Given the description of an element on the screen output the (x, y) to click on. 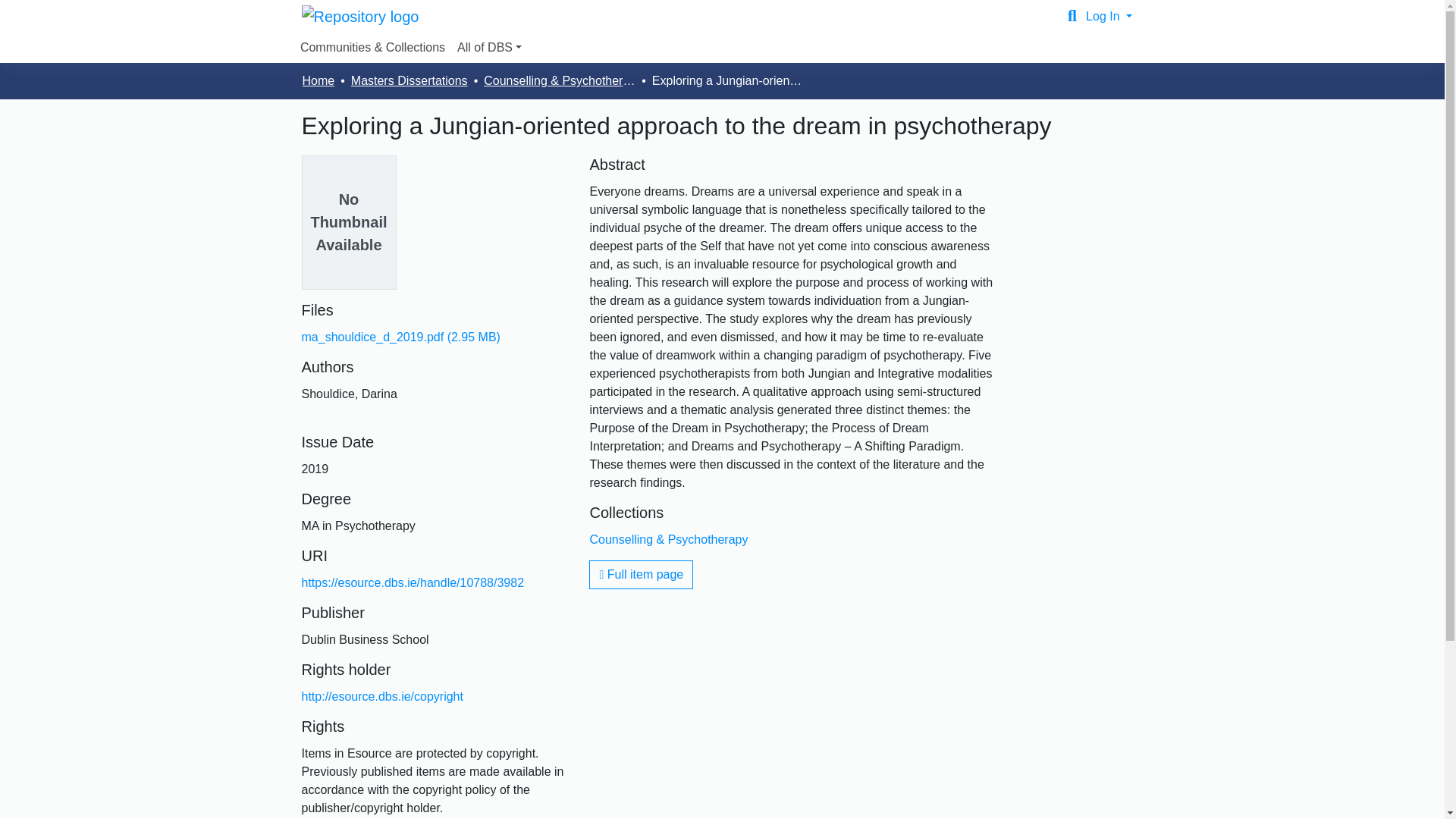
Log In (1108, 15)
Full item page (641, 574)
Search (1072, 16)
All of DBS (489, 47)
Masters Dissertations (408, 81)
Home (317, 81)
